Given the description of an element on the screen output the (x, y) to click on. 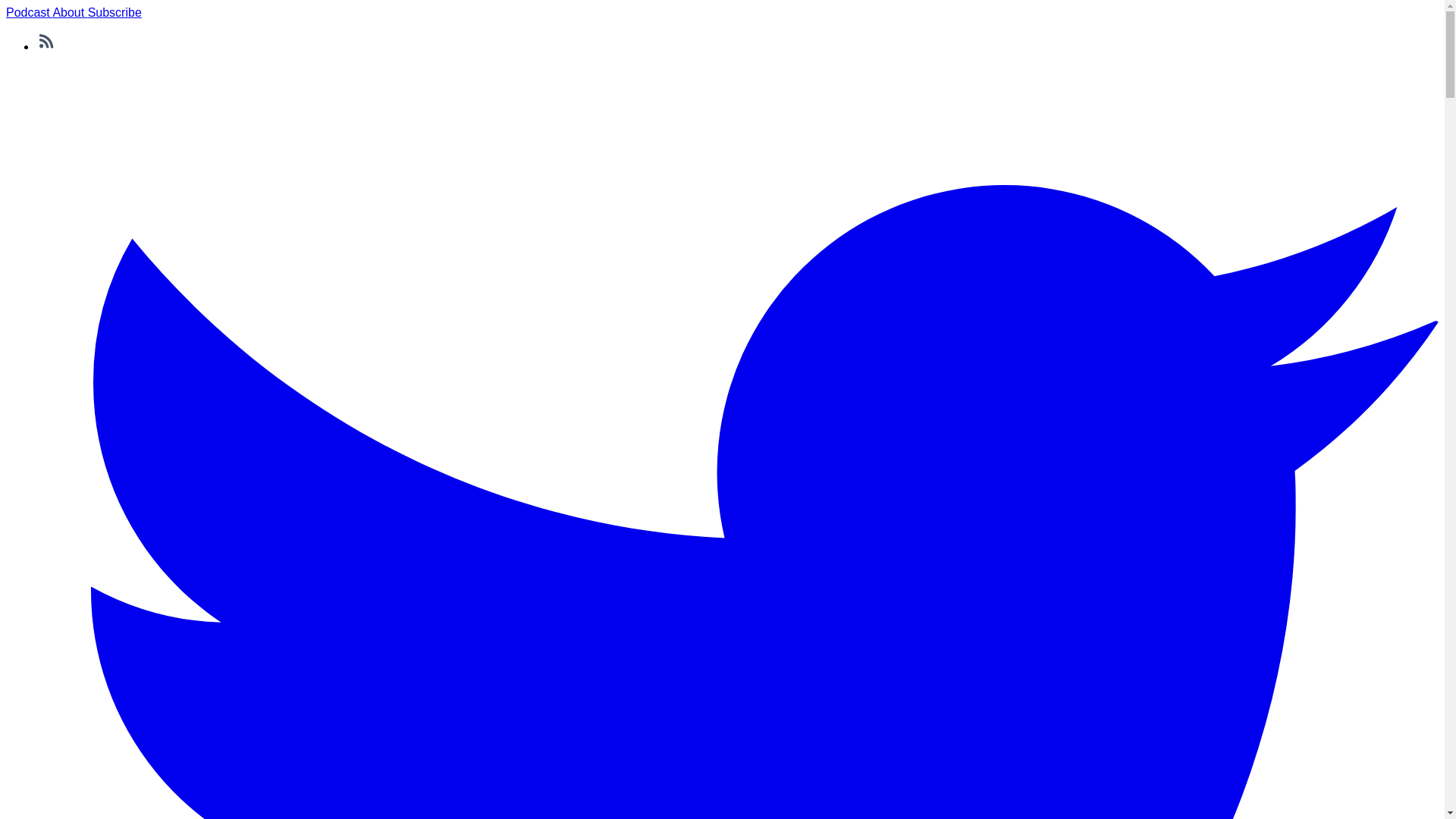
Subscribe (114, 11)
About (69, 11)
Podcast (28, 11)
